Given the description of an element on the screen output the (x, y) to click on. 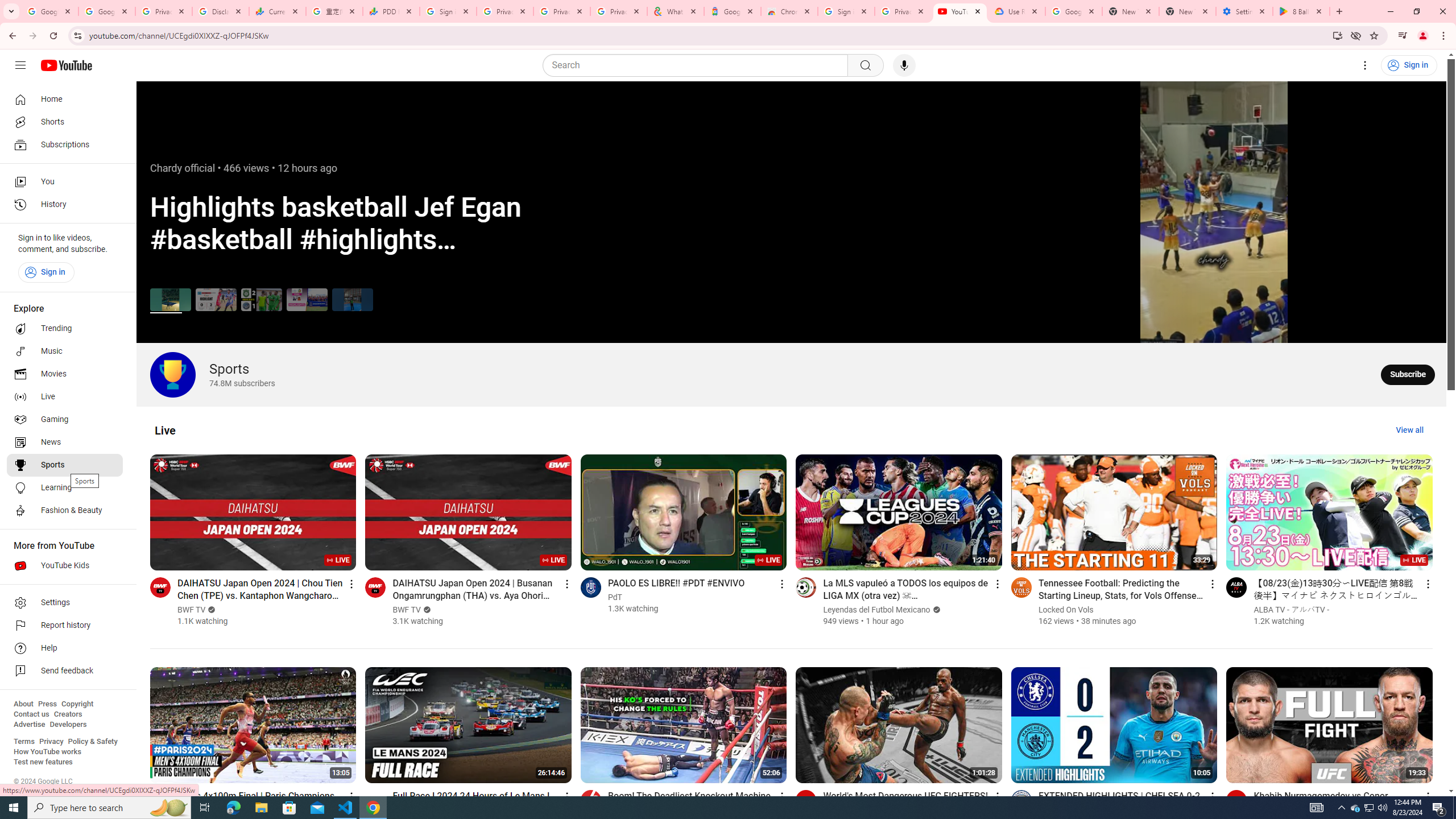
Google Workspace Admin Community (49, 11)
Fashion & Beauty (64, 510)
Home (64, 99)
Sign in - Google Accounts (845, 11)
Trending (64, 328)
Press (46, 703)
